Given the description of an element on the screen output the (x, y) to click on. 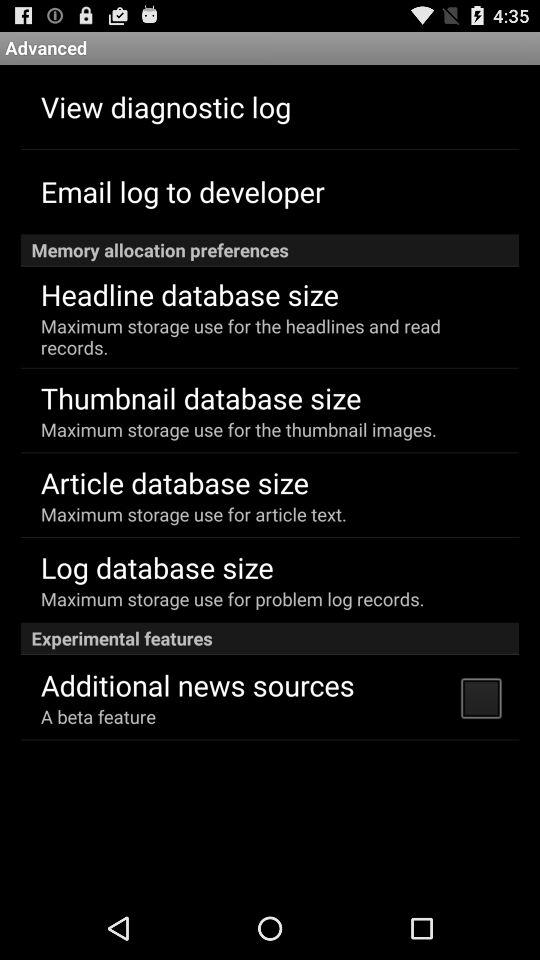
open email log to app (182, 190)
